Given the description of an element on the screen output the (x, y) to click on. 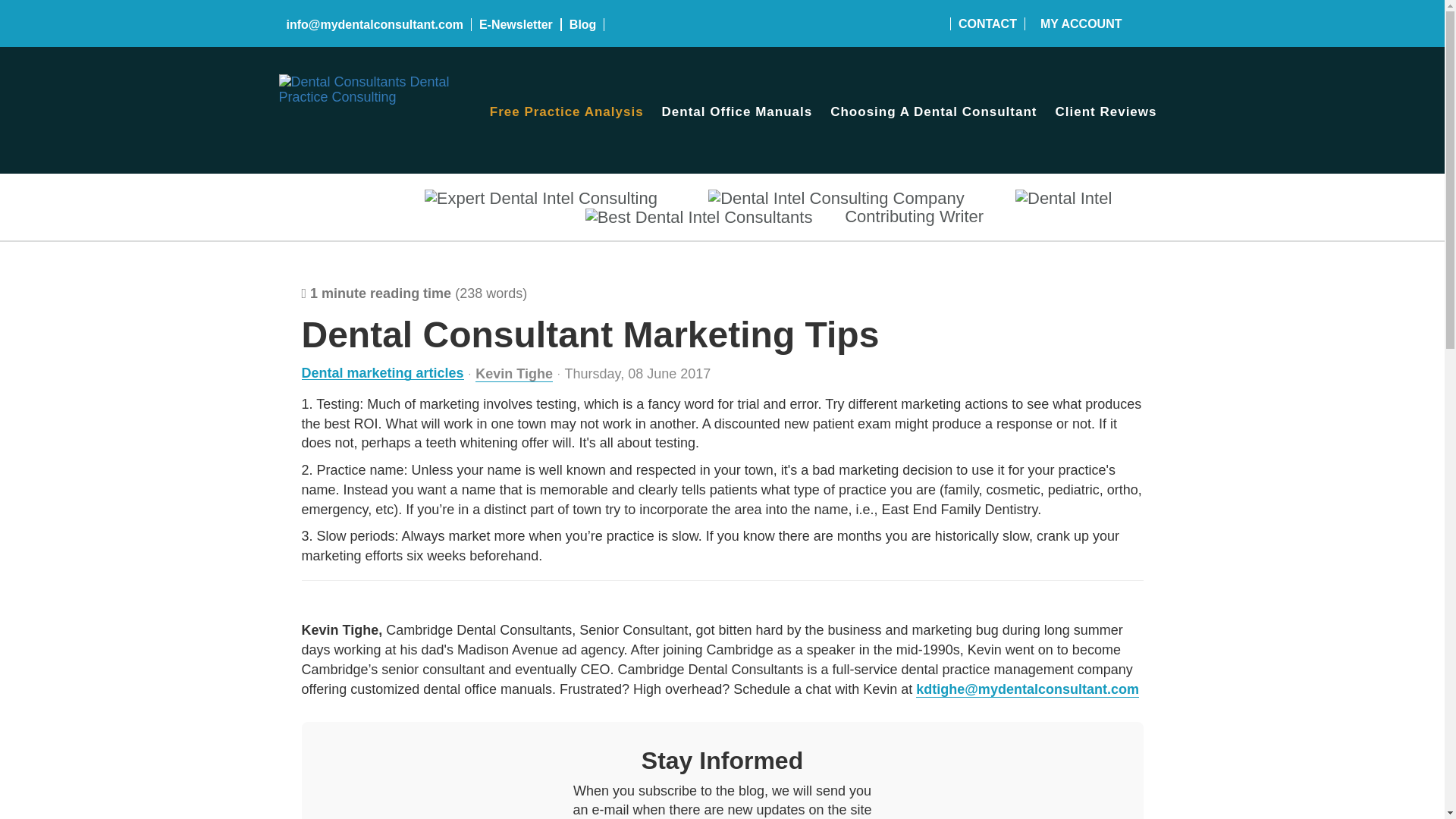
Cambridge Dental Consultants Inc Ny (370, 81)
MY ACCOUNT (1081, 23)
CONTACT (987, 23)
Kevin Tighe (514, 374)
Blog (582, 24)
My Account (1081, 23)
LinkedIn (923, 24)
Facebook (885, 24)
Client Reviews (1106, 112)
SHOPPING CART (1151, 24)
Free Practice Analysis (566, 112)
Choosing A Dental Consultant (933, 112)
Dental marketing articles (382, 373)
Contributing Writer AGD Dentistry IQ Dental Consulting (835, 198)
Contributing Writer AGD Dental Consulting (541, 198)
